Given the description of an element on the screen output the (x, y) to click on. 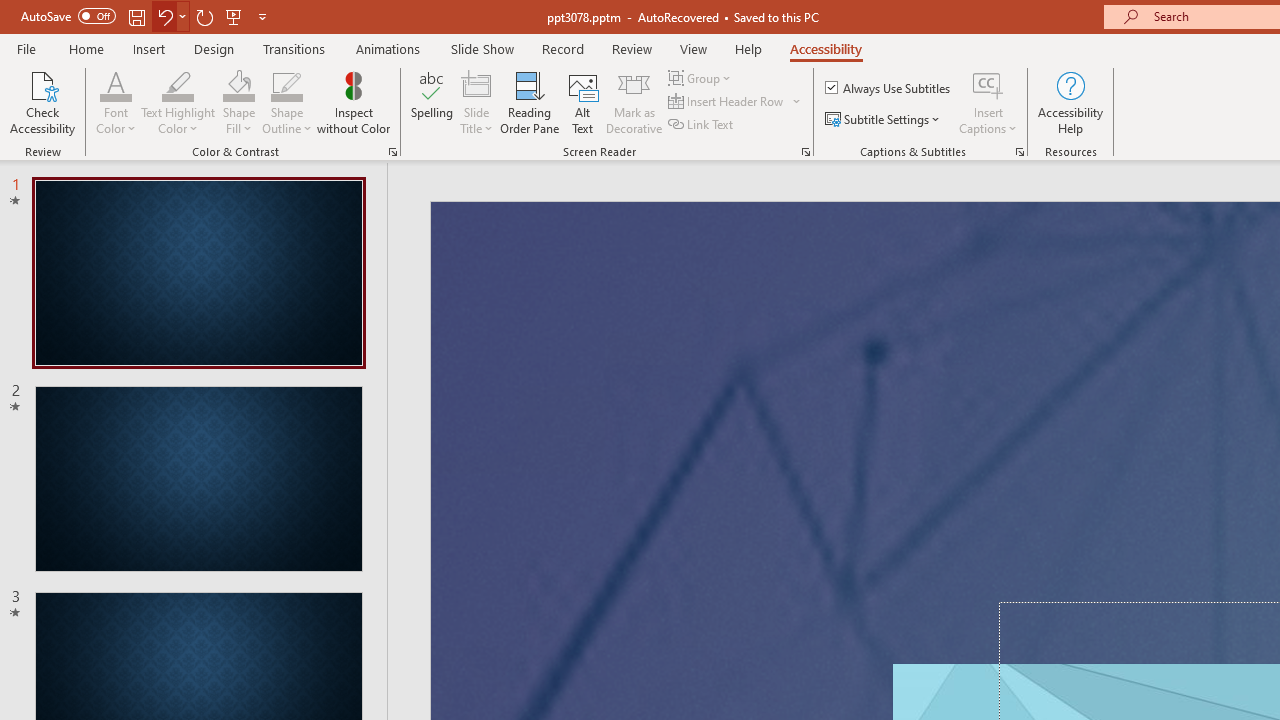
Link Text (702, 124)
